Given the description of an element on the screen output the (x, y) to click on. 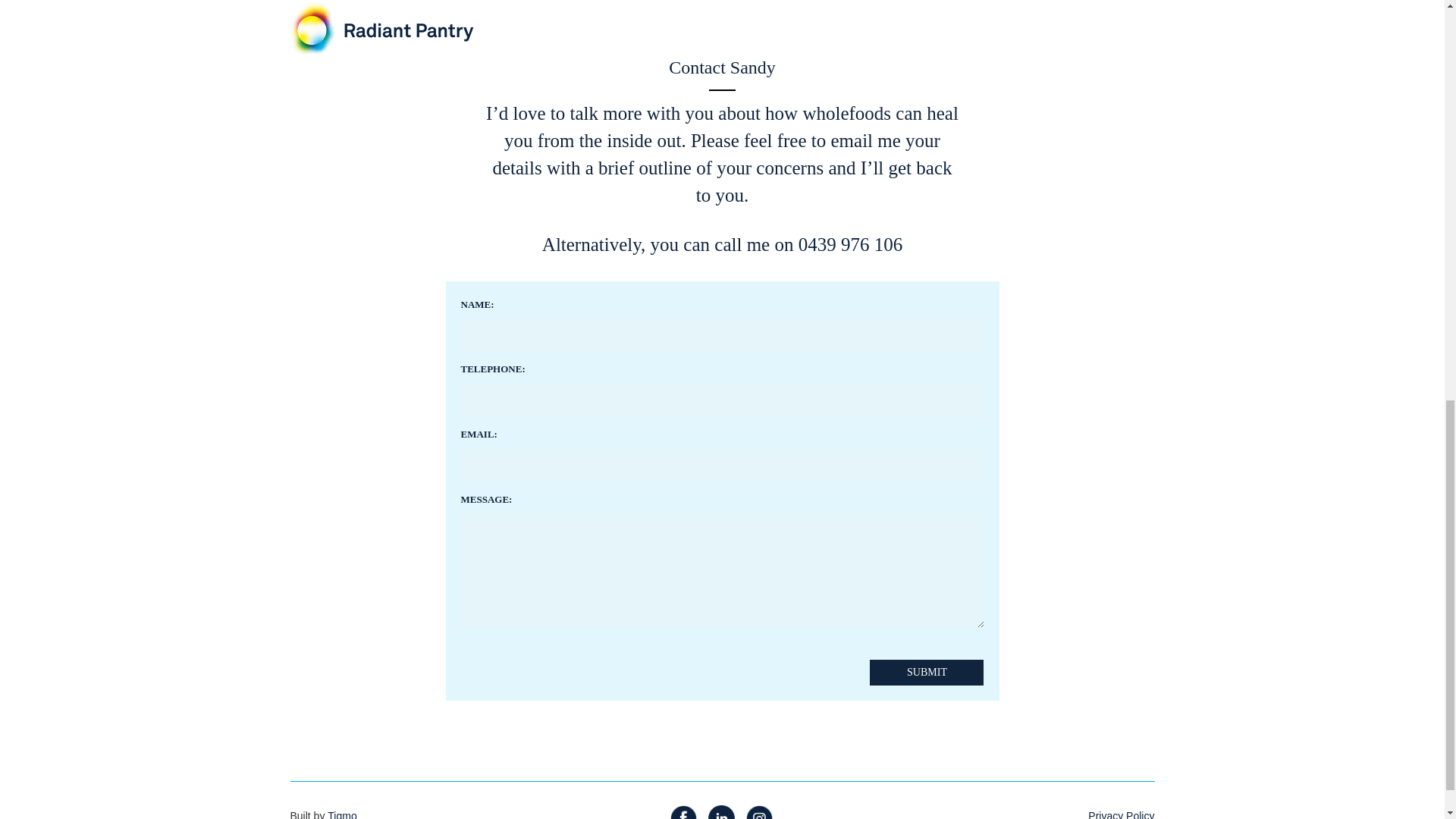
Tigmo (341, 814)
Submit (926, 672)
Submit (1120, 814)
